Given the description of an element on the screen output the (x, y) to click on. 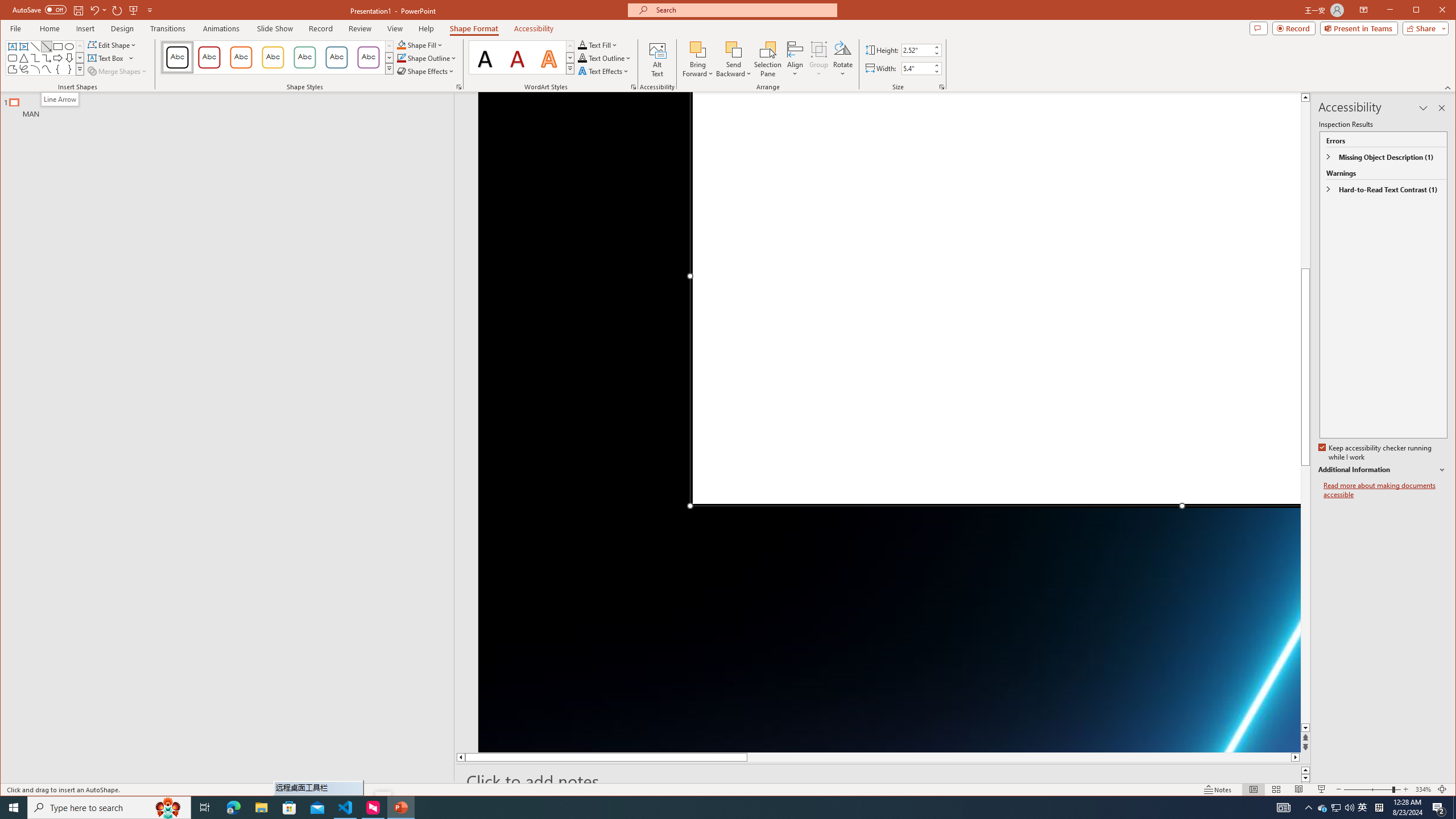
Format Text Effects... (632, 86)
Rotate (842, 59)
Colored Outline - Dark Red, Accent 1 (209, 57)
